Given the description of an element on the screen output the (x, y) to click on. 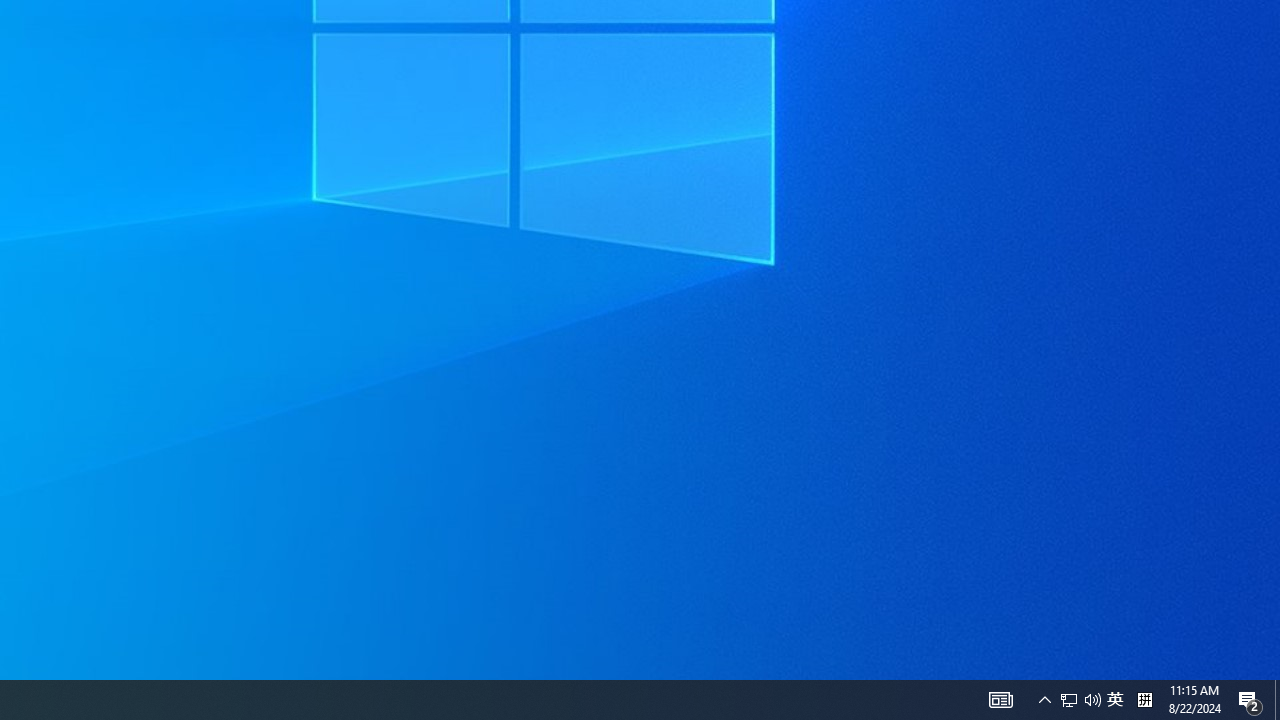
User Promoted Notification Area (1080, 699)
Action Center, 2 new notifications (1250, 699)
Notification Chevron (1044, 699)
AutomationID: 4105 (1115, 699)
Q2790: 100% (1000, 699)
Show desktop (1092, 699)
Tray Input Indicator - Chinese (Simplified, China) (1069, 699)
